Given the description of an element on the screen output the (x, y) to click on. 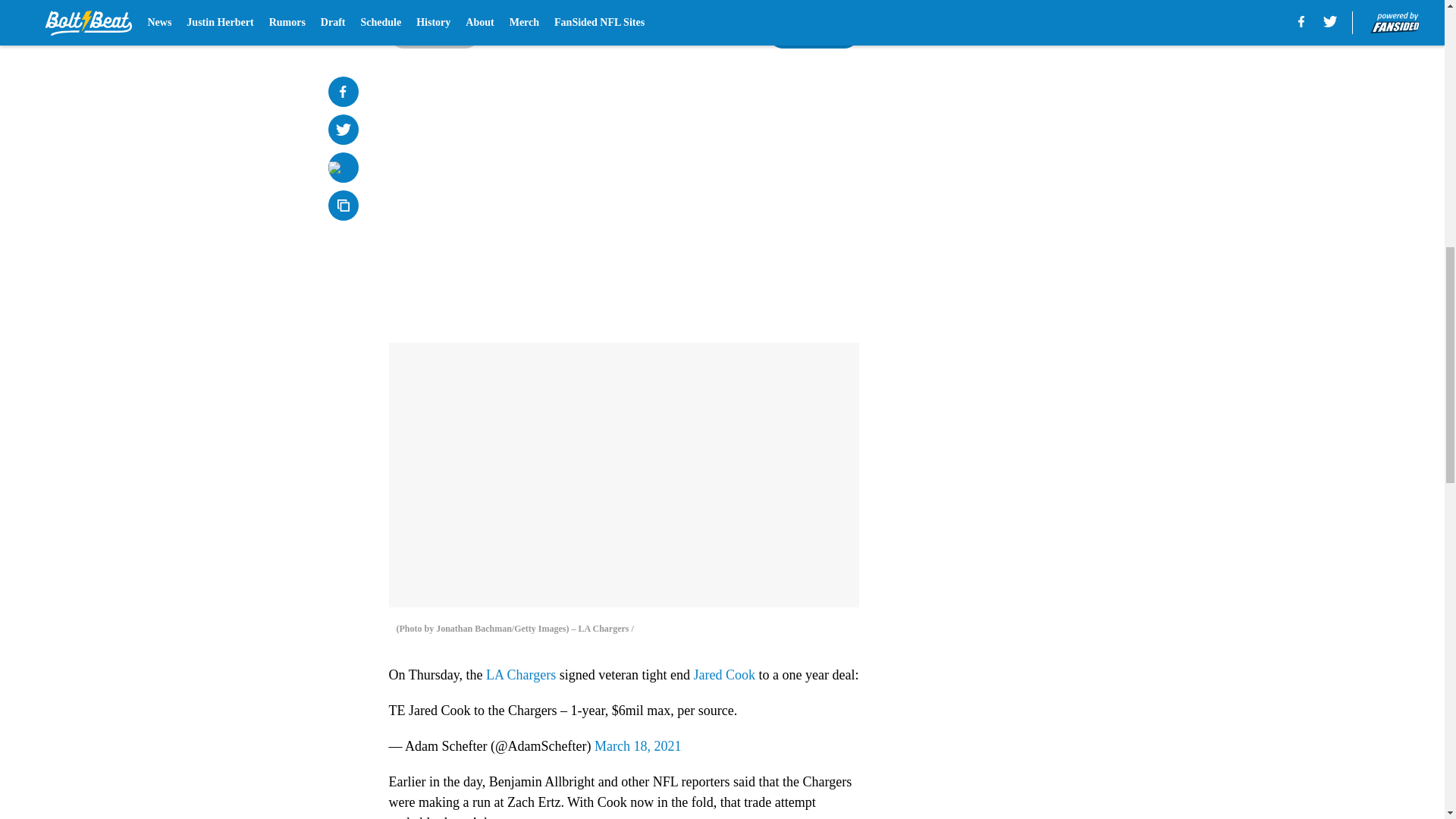
Prev (433, 33)
Jared Cook (724, 674)
March 18, 2021 (637, 745)
Next (813, 33)
LA Chargers (521, 674)
